Given the description of an element on the screen output the (x, y) to click on. 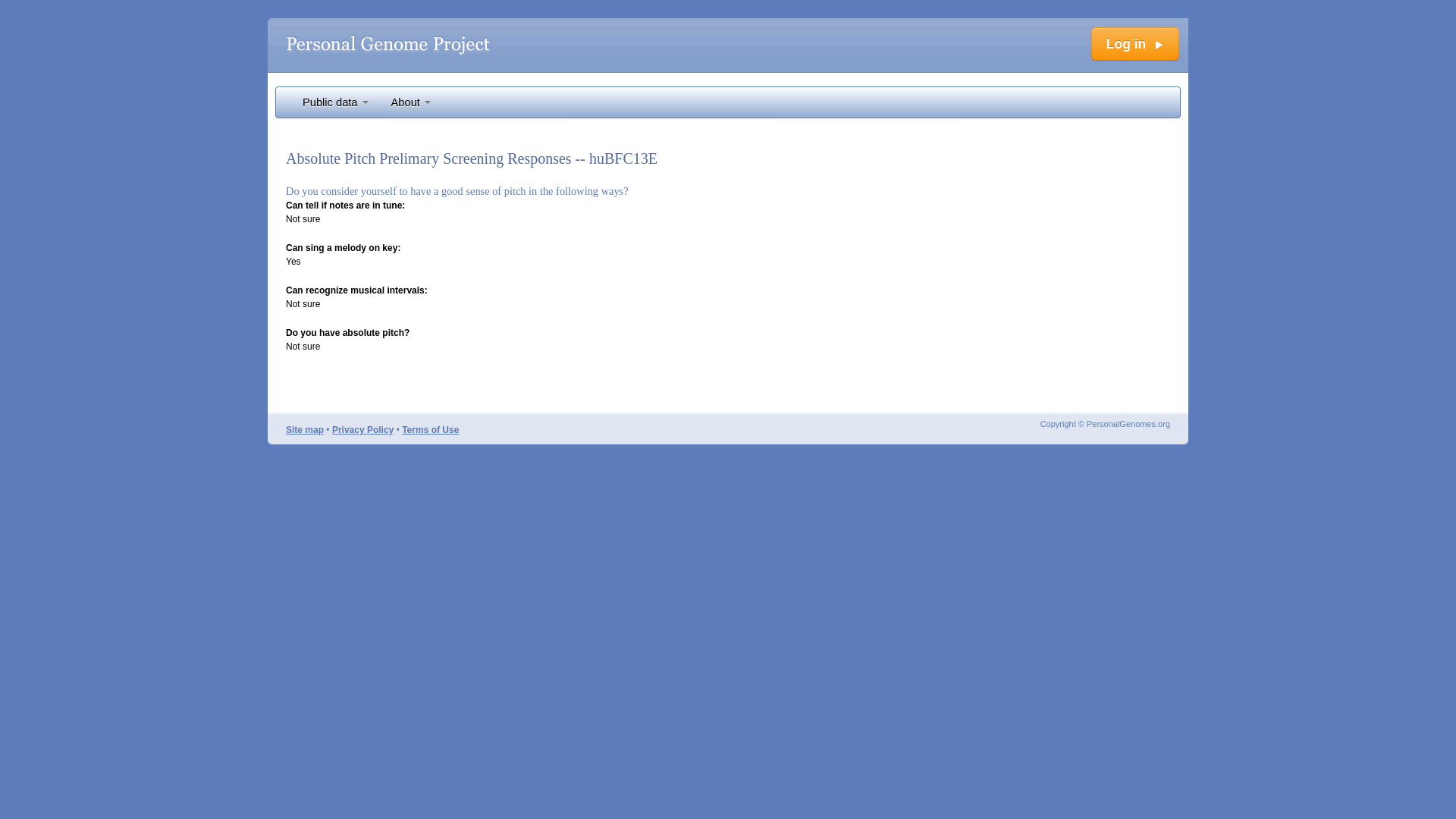
About (411, 101)
Log in   (1134, 43)
Public data (335, 101)
